Given the description of an element on the screen output the (x, y) to click on. 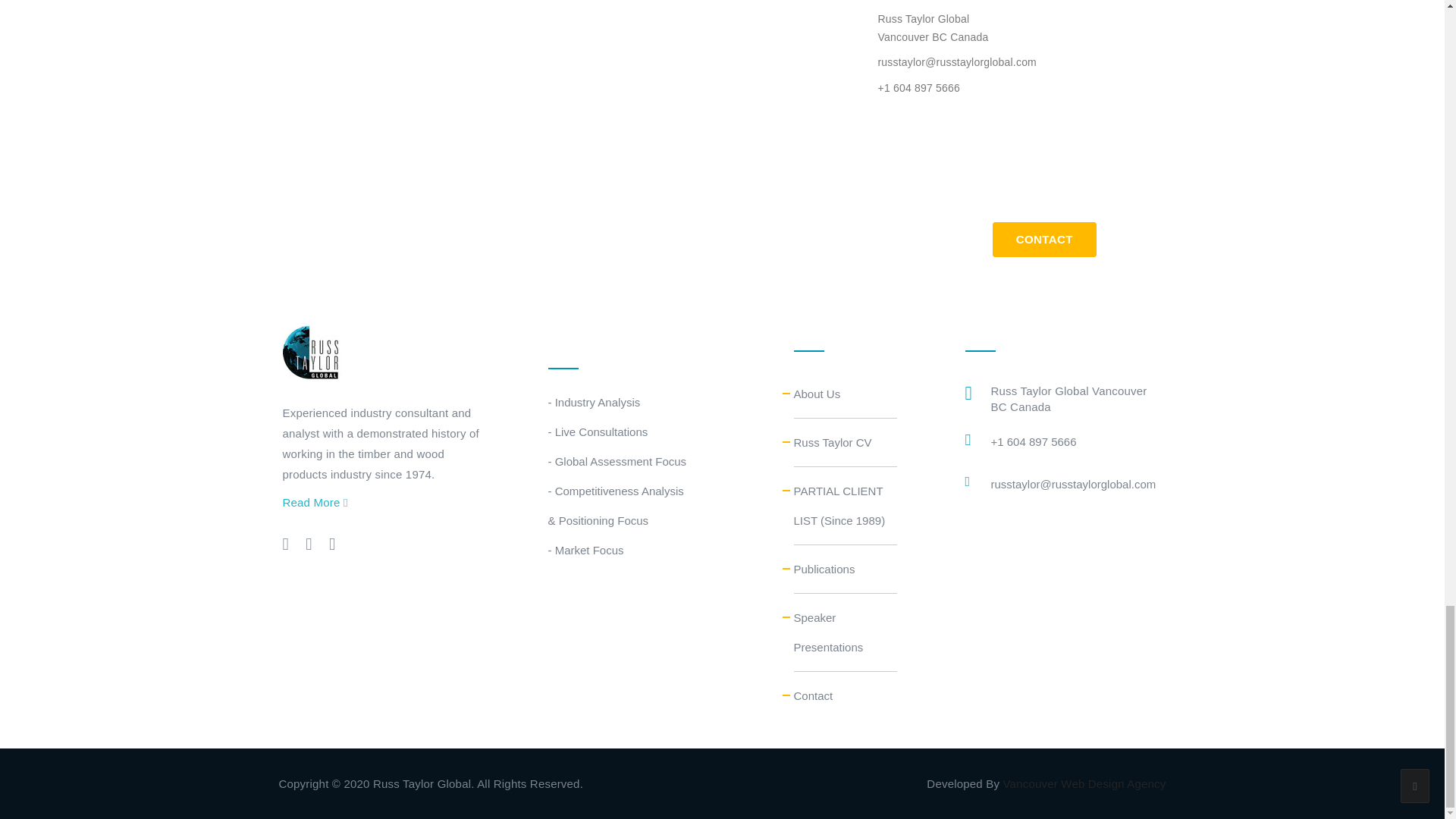
Russ Taylor Global (311, 350)
